Given the description of an element on the screen output the (x, y) to click on. 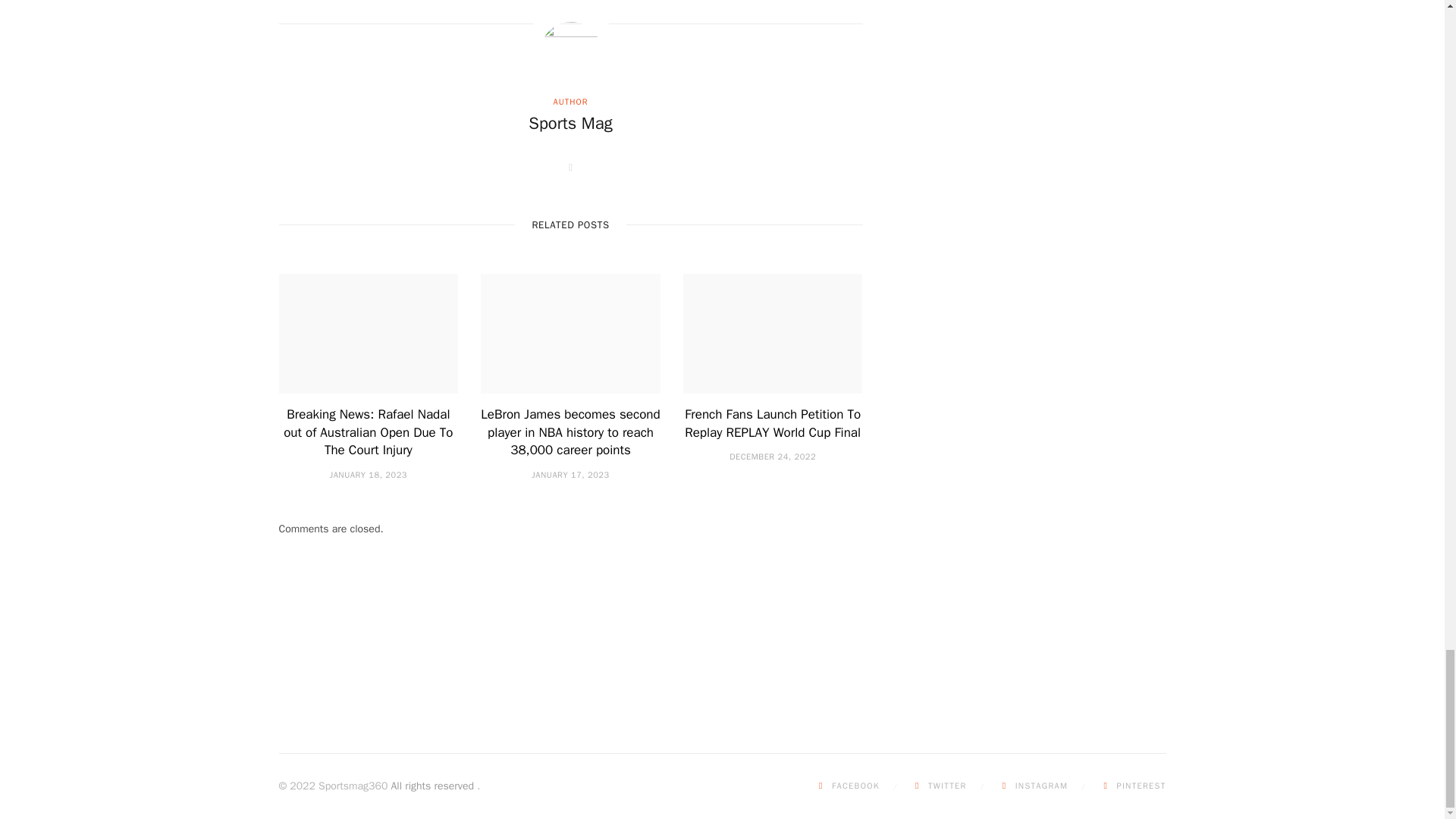
Posts by Sports Mag (569, 123)
Sports Mag (569, 123)
